Given the description of an element on the screen output the (x, y) to click on. 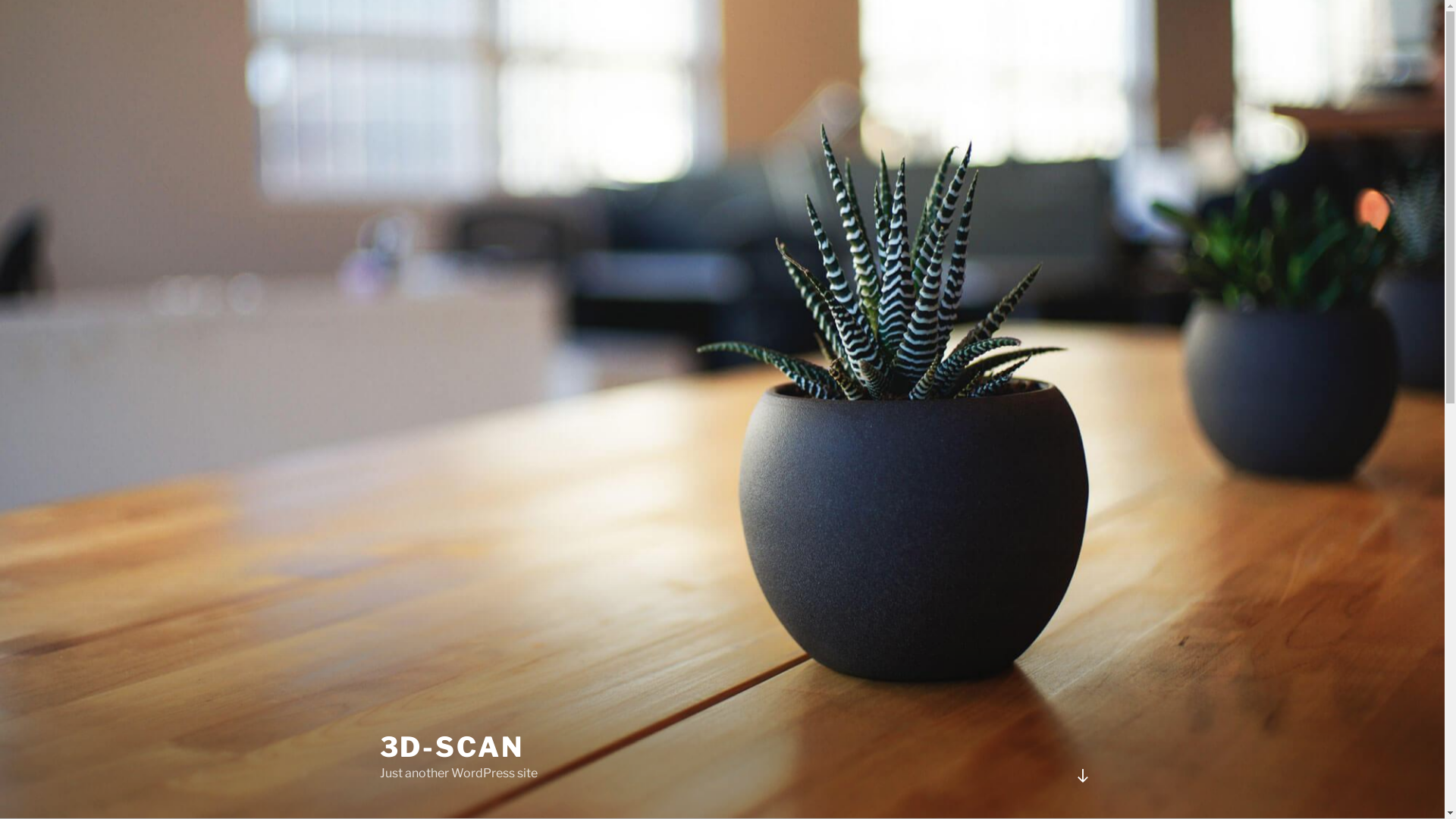
Scroll down to content Element type: text (1082, 775)
Skip to content Element type: text (0, 0)
3D-SCAN Element type: text (451, 746)
